Given the description of an element on the screen output the (x, y) to click on. 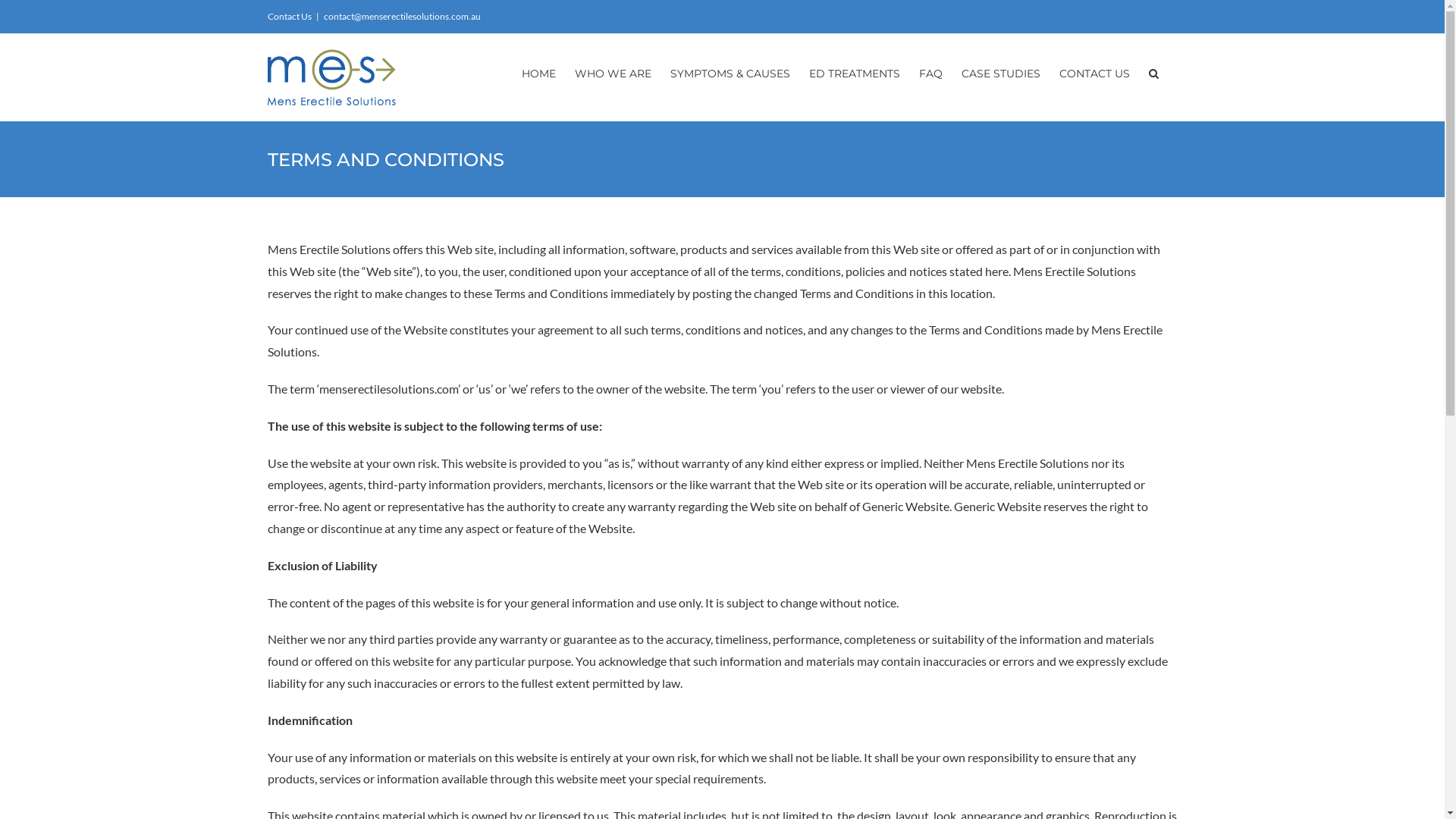
CASE STUDIES Element type: text (1000, 73)
Contact Us Element type: text (288, 15)
FAQ Element type: text (930, 73)
CONTACT US Element type: text (1093, 73)
ED TREATMENTS Element type: text (853, 73)
Search Element type: hover (1152, 73)
SYMPTOMS & CAUSES Element type: text (730, 73)
WHO WE ARE Element type: text (612, 73)
contact@menserectilesolutions.com.au Element type: text (401, 15)
HOME Element type: text (538, 73)
